Given the description of an element on the screen output the (x, y) to click on. 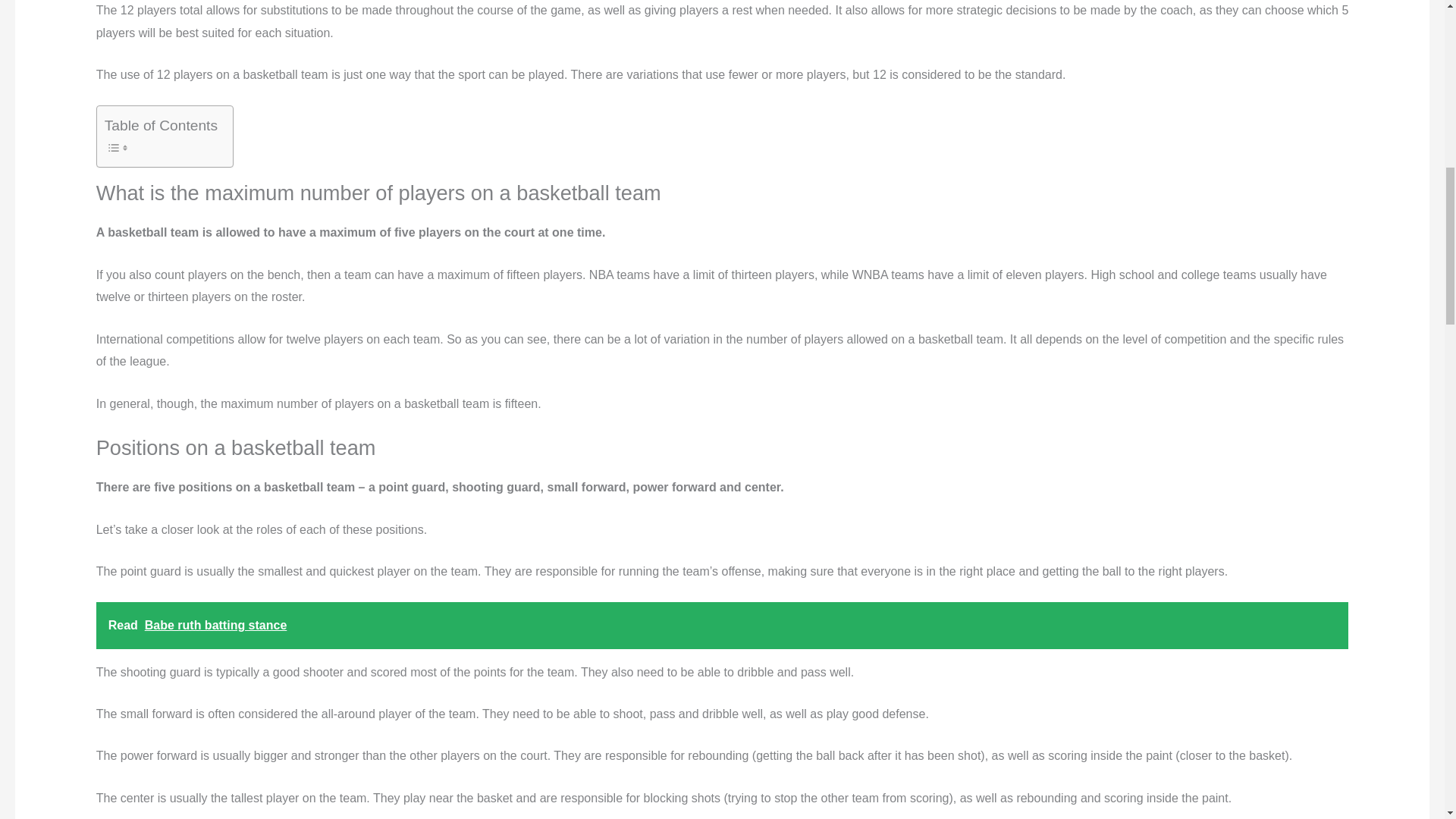
Read  Babe ruth batting stance (722, 625)
